Given the description of an element on the screen output the (x, y) to click on. 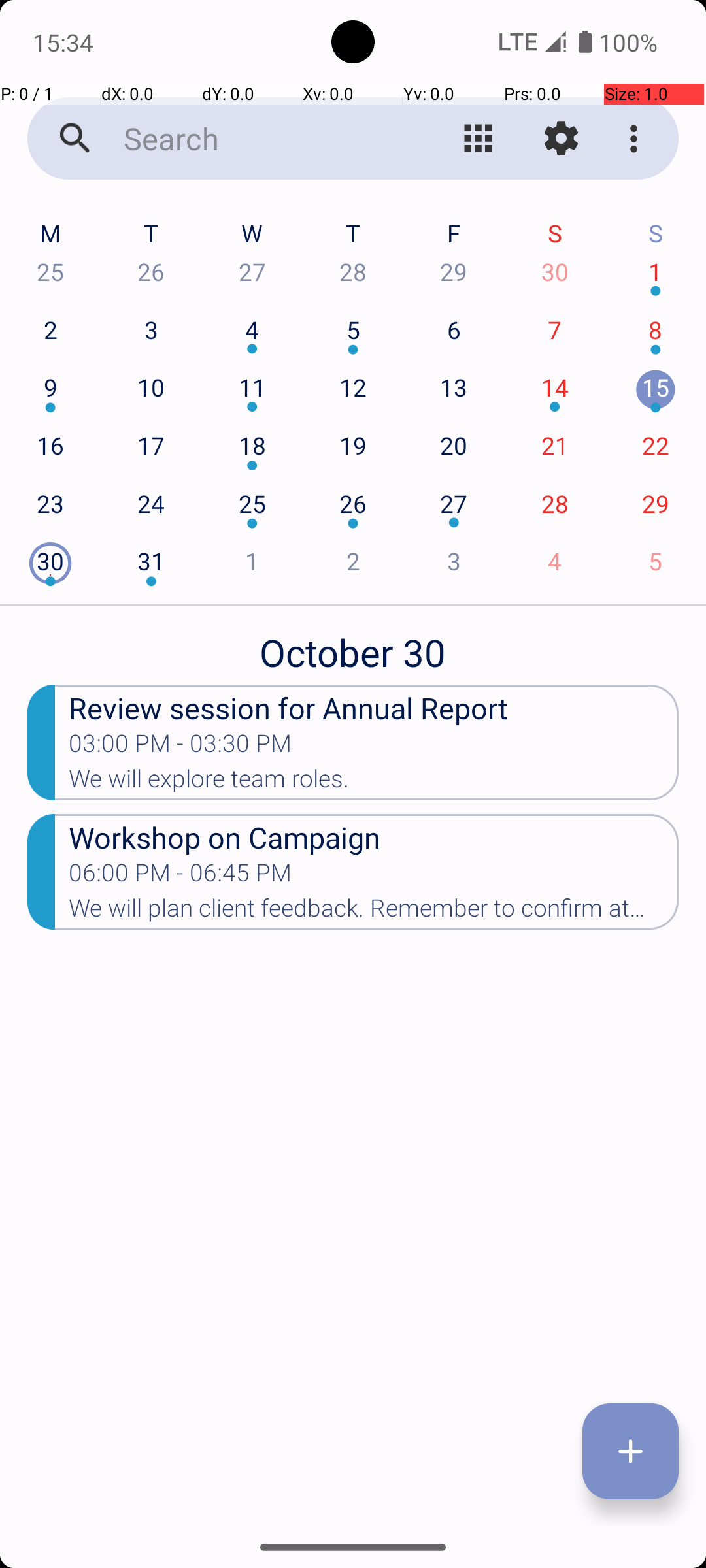
October 30 Element type: android.widget.TextView (352, 644)
03:00 PM - 03:30 PM Element type: android.widget.TextView (179, 747)
We will explore team roles. Element type: android.widget.TextView (373, 782)
06:00 PM - 06:45 PM Element type: android.widget.TextView (179, 876)
We will plan client feedback. Remember to confirm attendance. Element type: android.widget.TextView (373, 911)
